Given the description of an element on the screen output the (x, y) to click on. 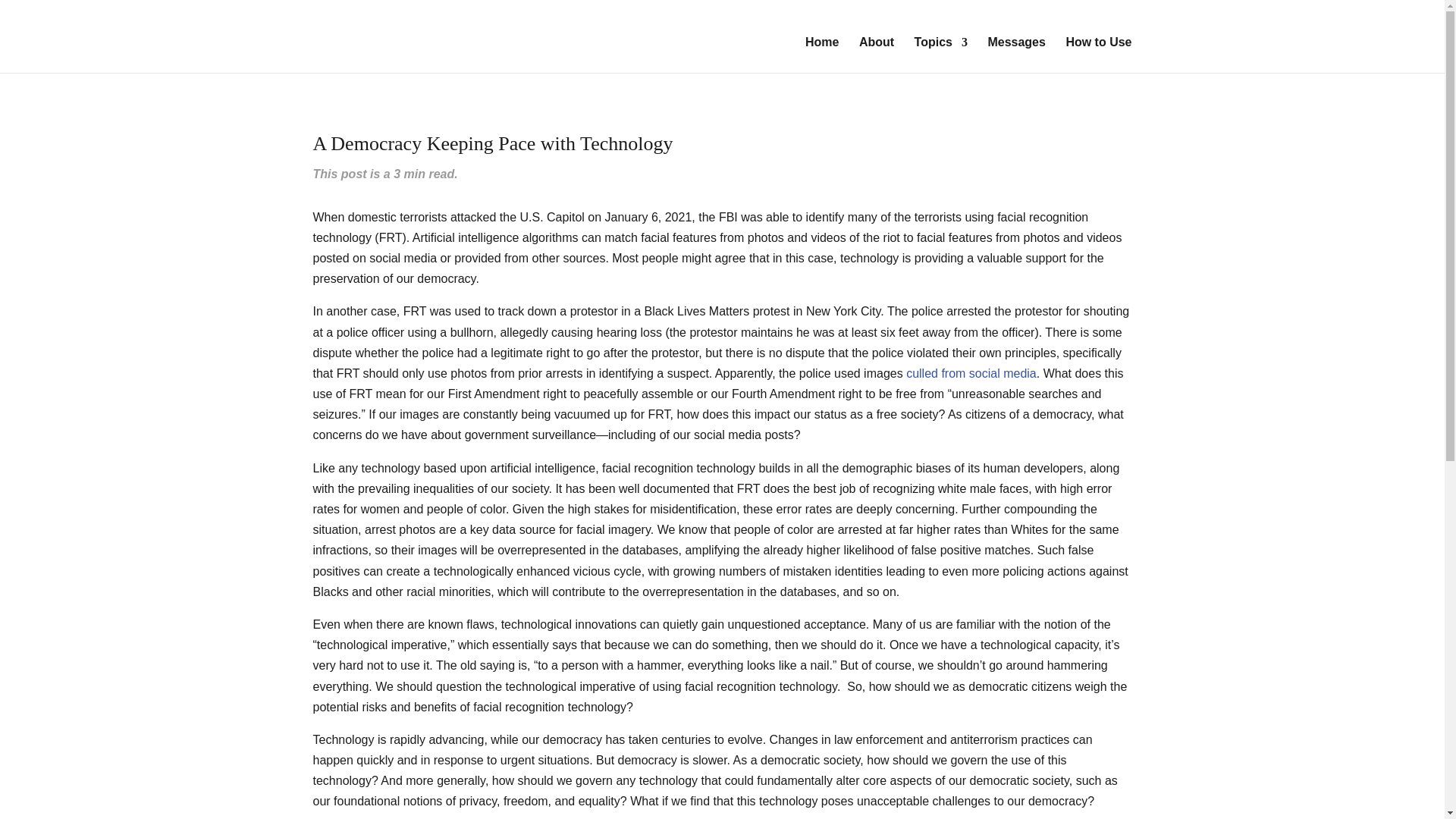
Messages (1016, 54)
Home (821, 54)
About (876, 54)
culled from social media (970, 373)
Topics (941, 54)
How to Use (1098, 54)
